Given the description of an element on the screen output the (x, y) to click on. 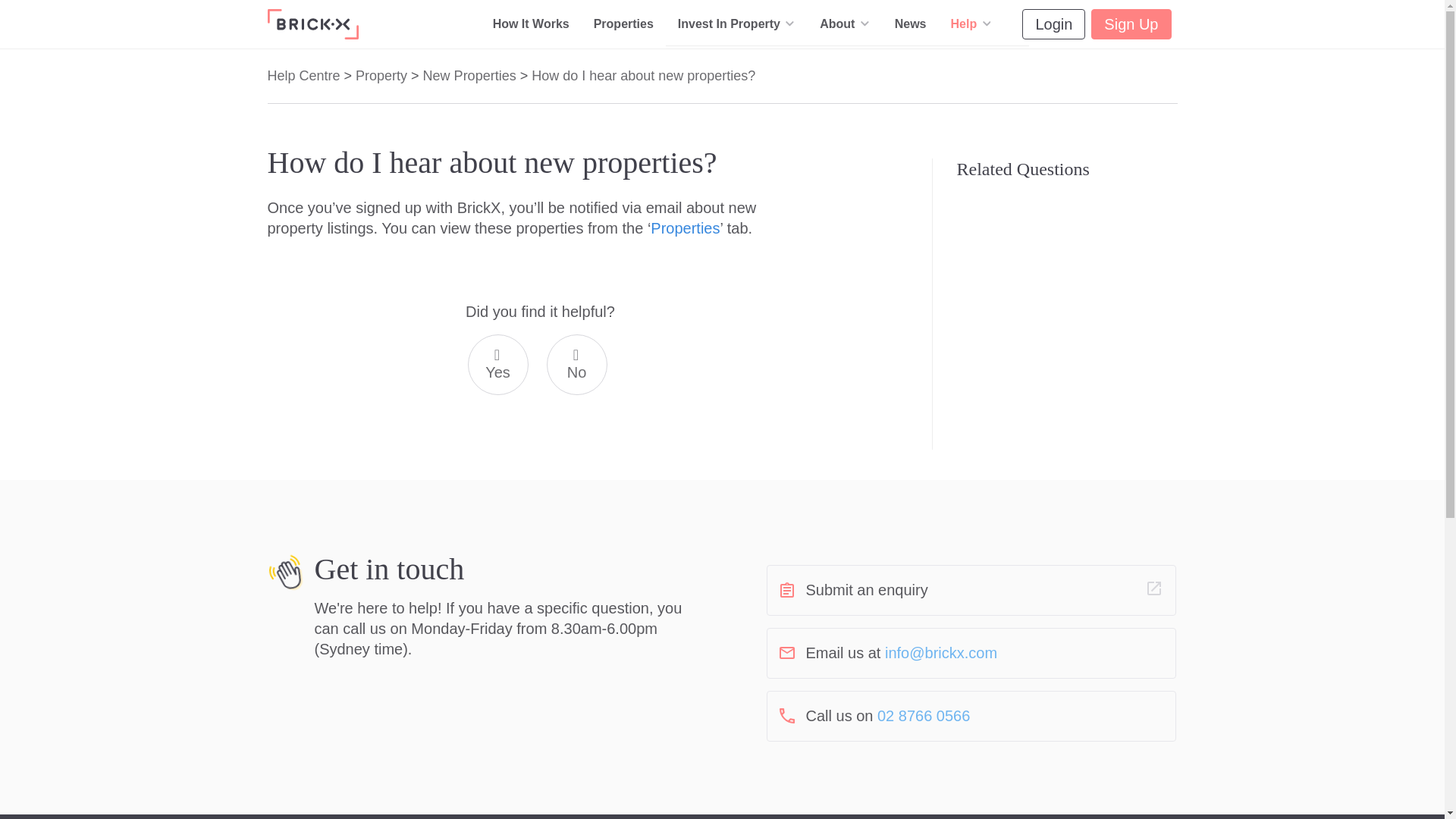
Property (382, 75)
Help Centre (983, 65)
New Properties (469, 75)
How It Works (530, 24)
Help Centre (302, 75)
Login (1053, 24)
Submit an enquiry (969, 590)
Properties (684, 228)
Properties (622, 24)
How do I hear about new properties? (643, 75)
